Given the description of an element on the screen output the (x, y) to click on. 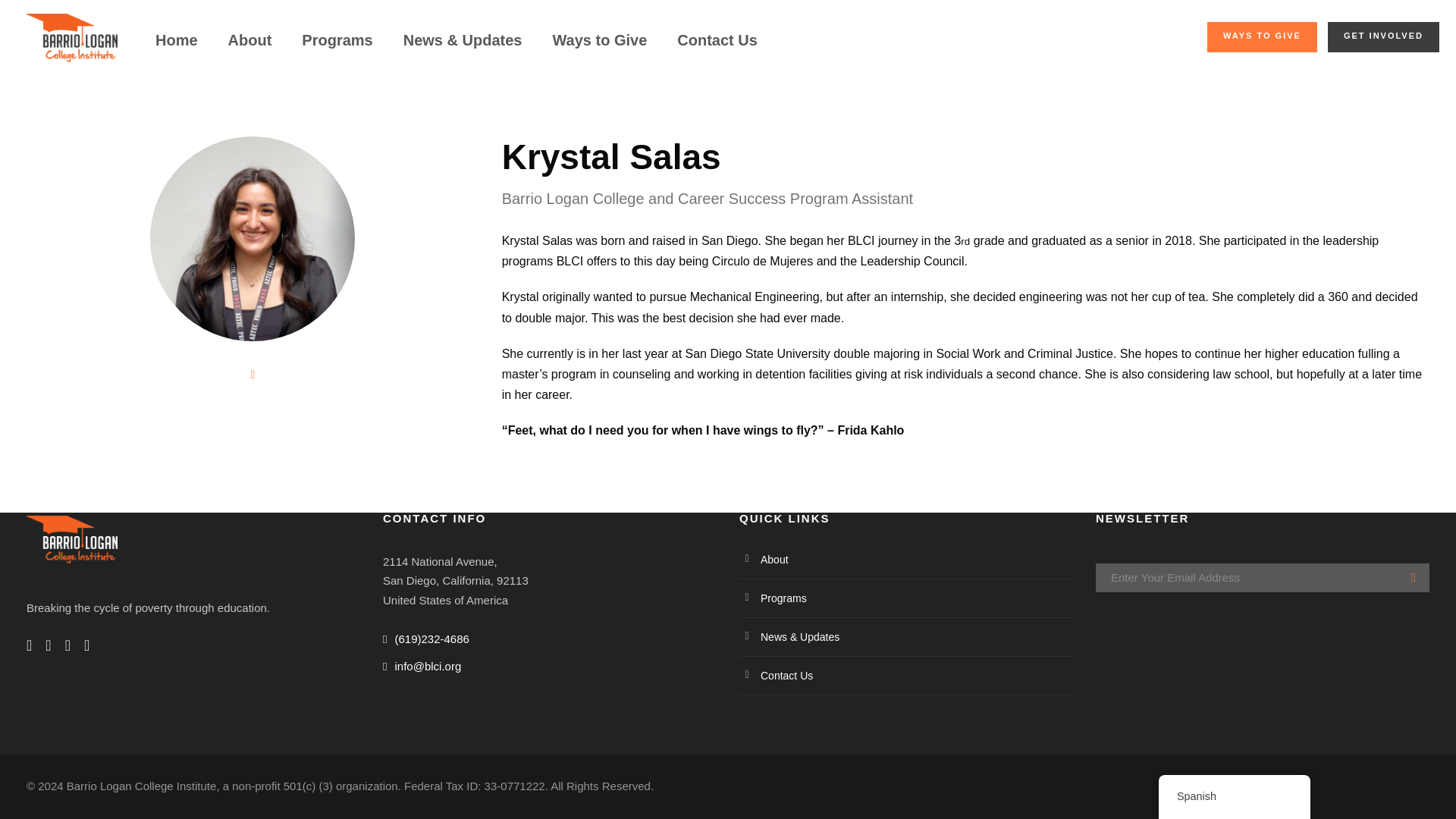
About (250, 47)
Contact Us (717, 47)
Ways to Give (598, 47)
Home (176, 47)
Programs (336, 47)
Krystal Salas (252, 238)
